Given the description of an element on the screen output the (x, y) to click on. 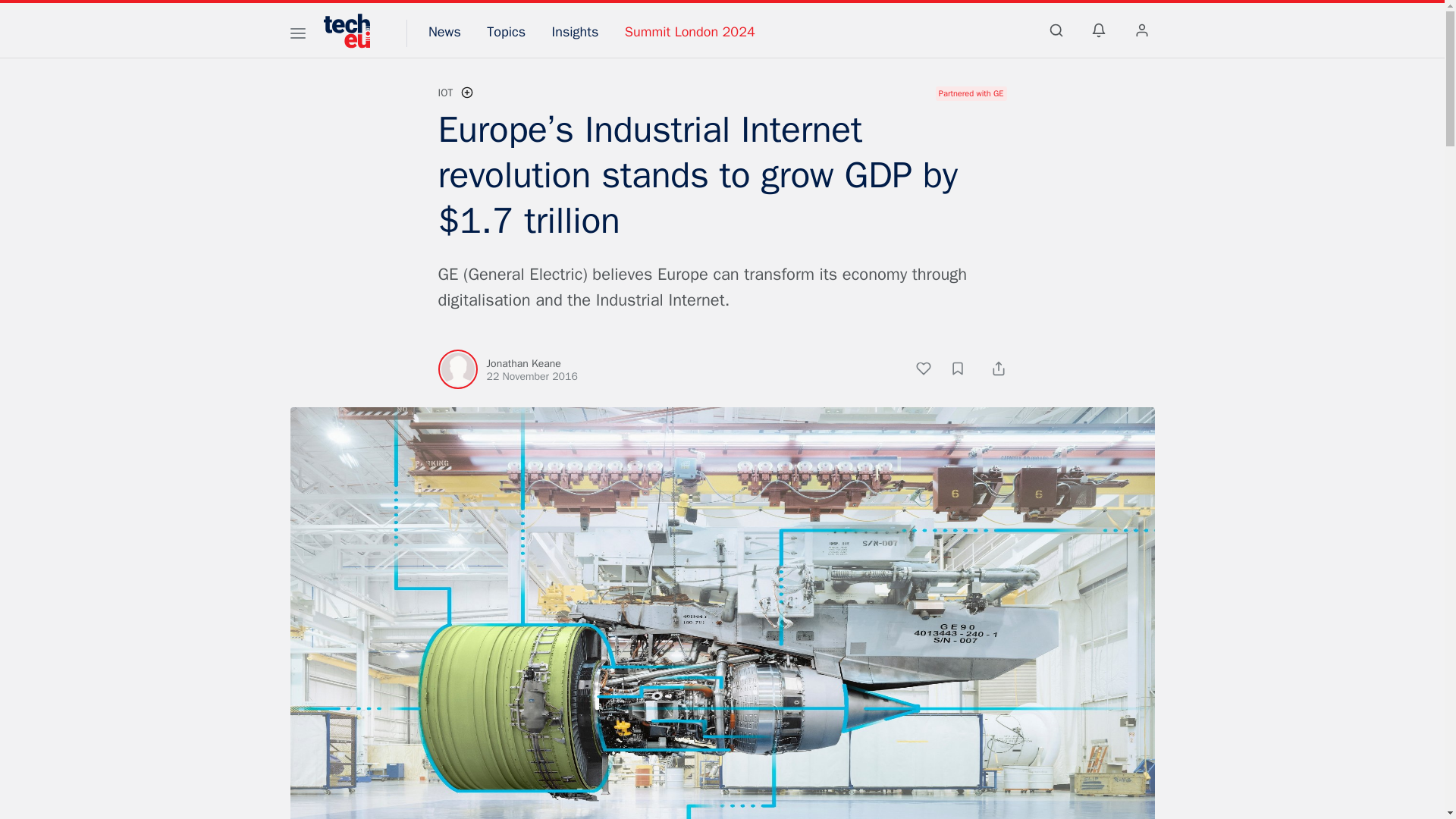
Add to Collection (964, 370)
Insights (574, 31)
IoT (445, 92)
Like (930, 370)
Topics (505, 31)
News (444, 31)
Summit London 2024 (689, 31)
